Given the description of an element on the screen output the (x, y) to click on. 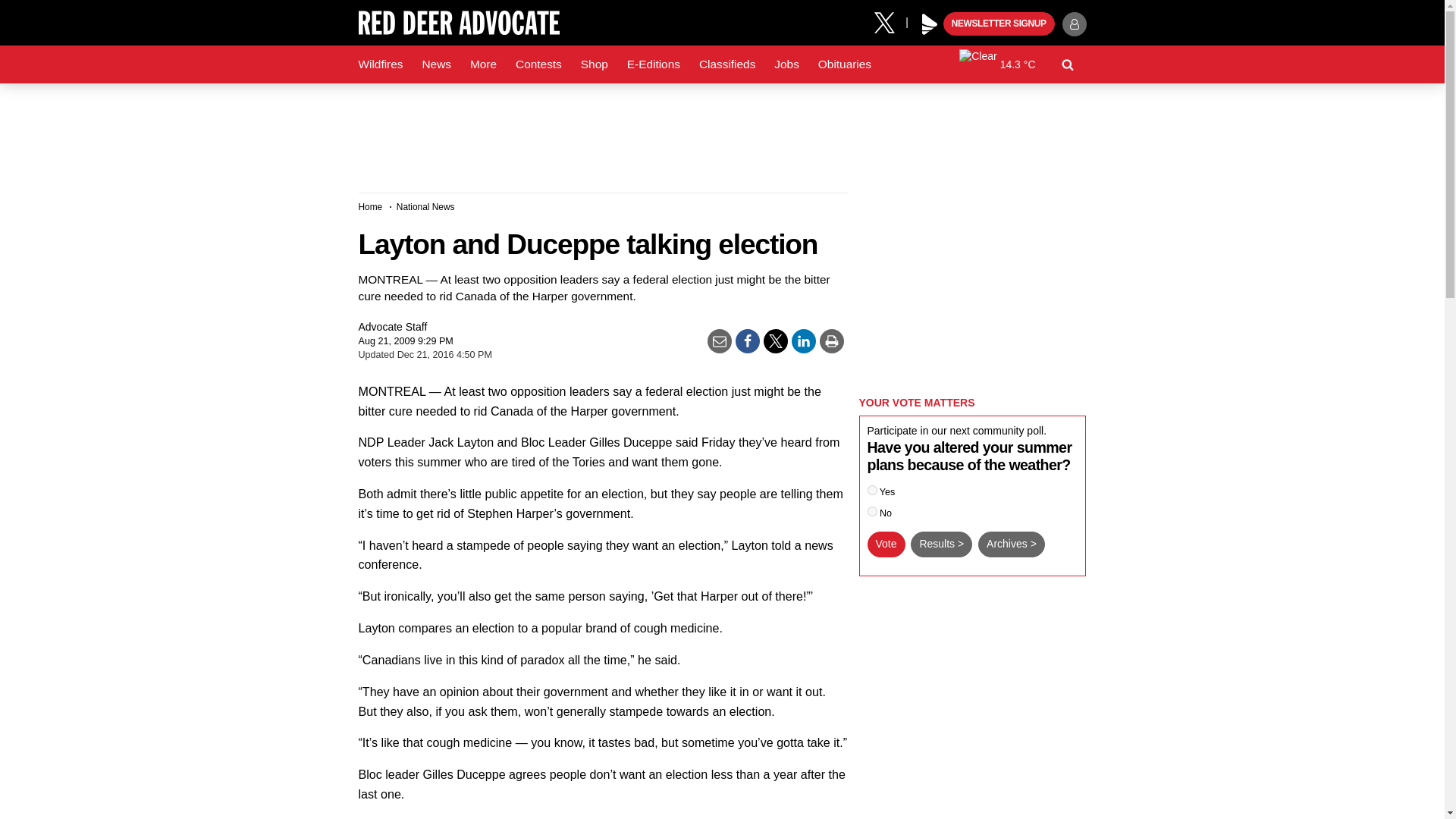
Play (929, 24)
242 (872, 511)
News (435, 64)
Black Press Media (929, 24)
Wildfires (380, 64)
241 (872, 490)
NEWSLETTER SIGNUP (998, 24)
X (889, 21)
